Given the description of an element on the screen output the (x, y) to click on. 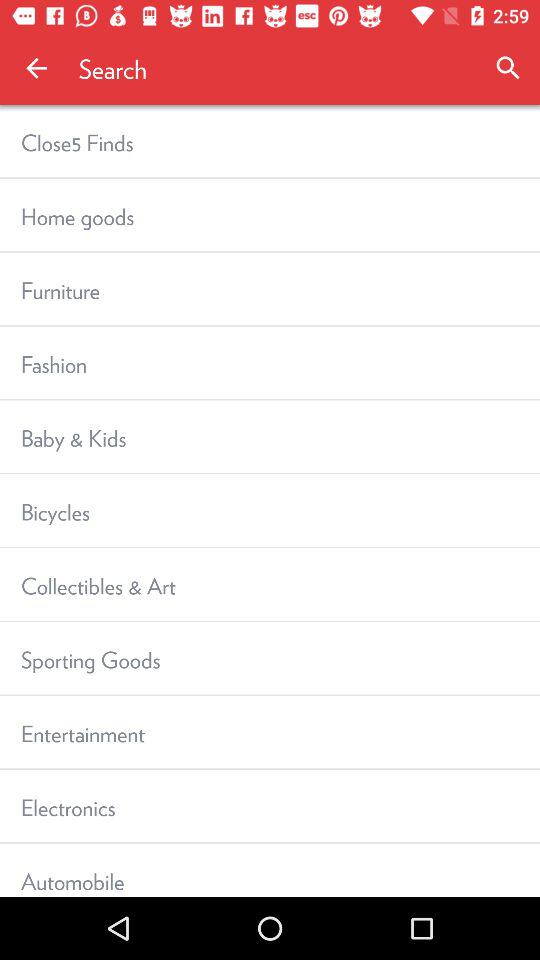
click icon to the left of the search app (36, 68)
